Given the description of an element on the screen output the (x, y) to click on. 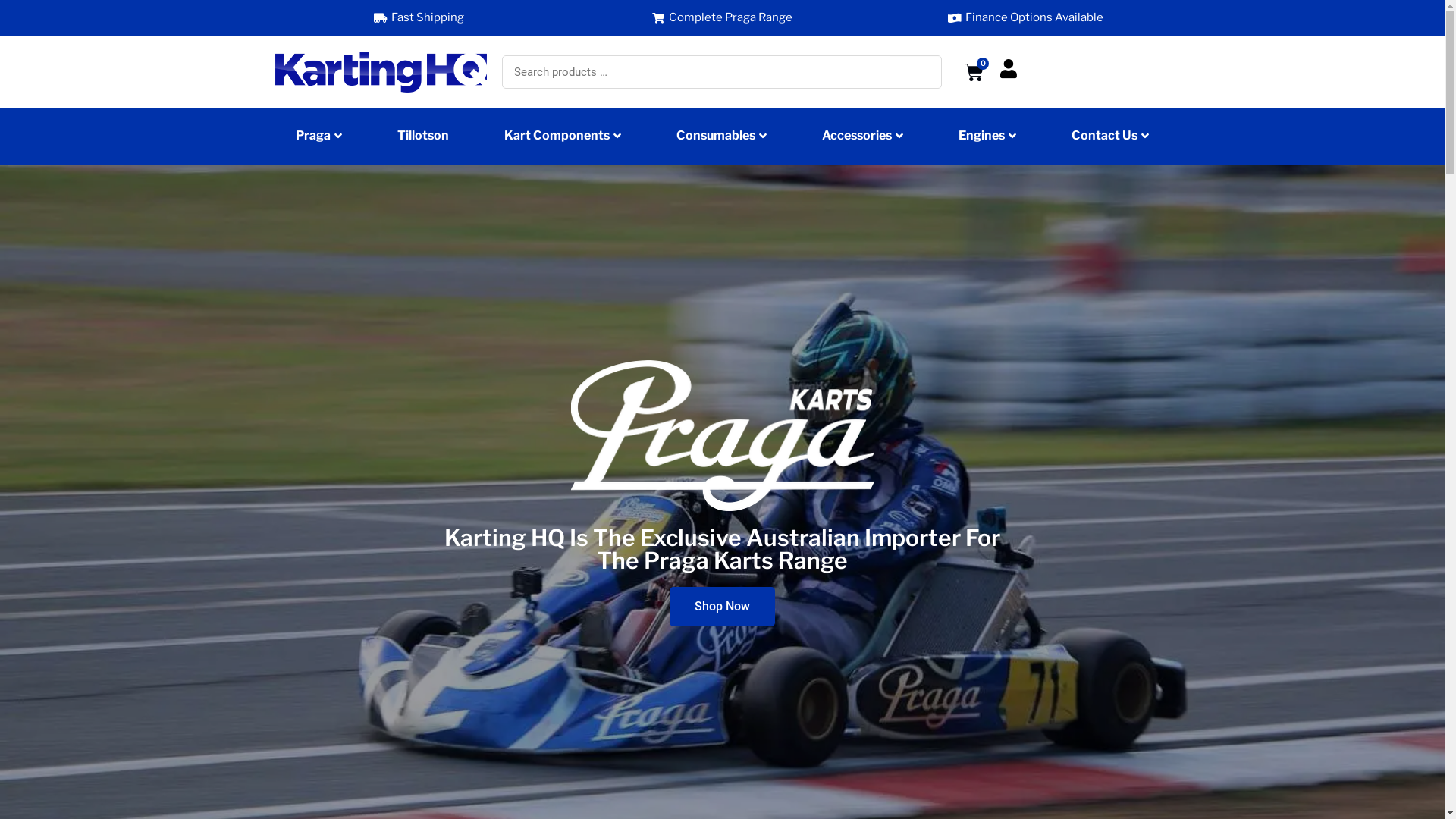
Accessories Element type: text (862, 136)
Praga Element type: text (318, 136)
Shop Now Element type: text (722, 606)
Tillotson Element type: text (422, 136)
Contact Us Element type: text (1110, 136)
Kart Components Element type: text (562, 136)
Consumables Element type: text (721, 136)
Engines Element type: text (987, 136)
